Given the description of an element on the screen output the (x, y) to click on. 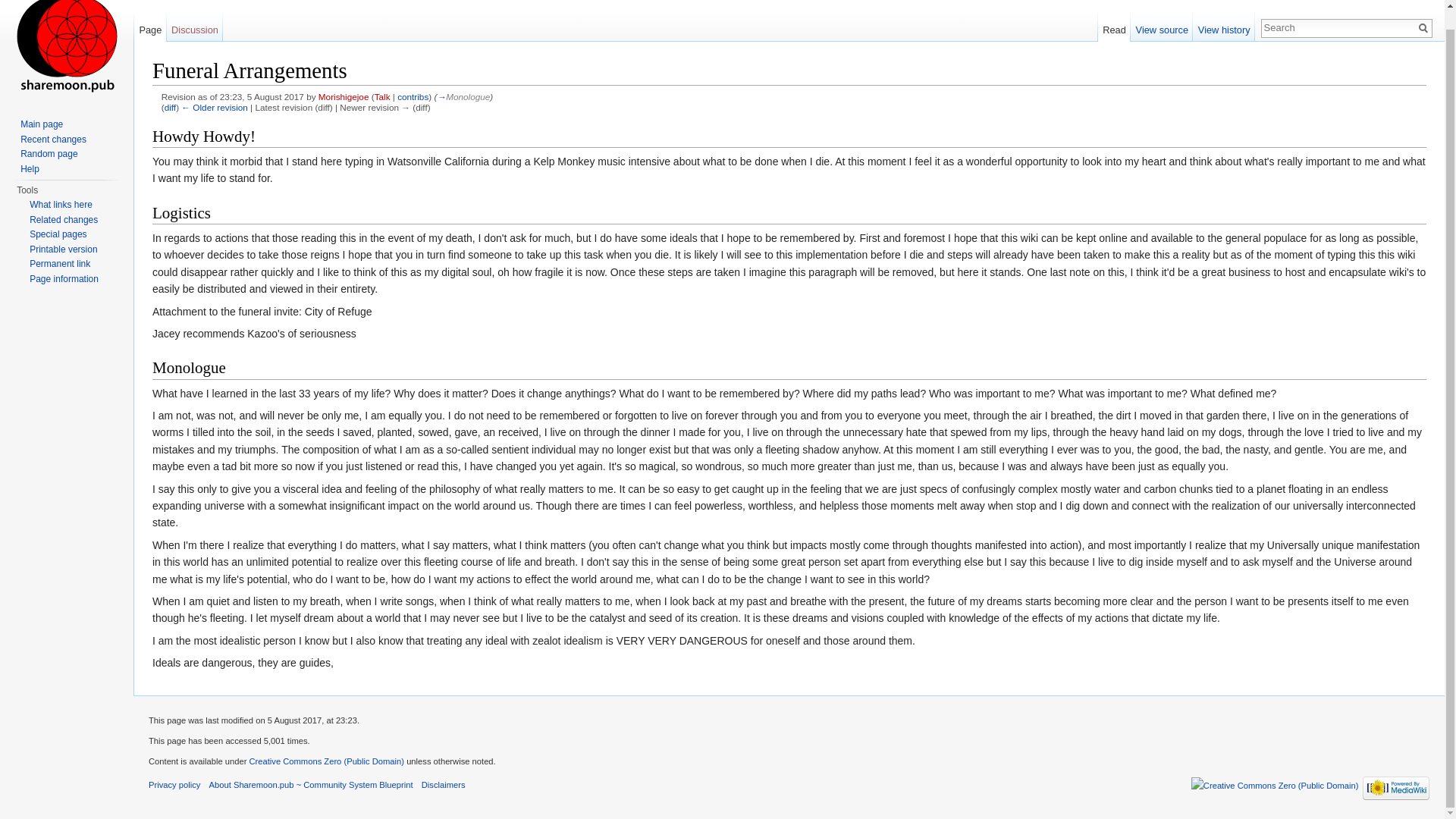
Main page (41, 123)
Go (1423, 27)
Go (1423, 27)
Special pages (57, 234)
Recent changes (52, 139)
Page (150, 26)
Permanent link (59, 263)
Visit the main page (66, 51)
contribs (412, 96)
Random page (48, 153)
Funeral Arrangements (170, 107)
Morishigejoe (343, 96)
Help (29, 167)
What links here (61, 204)
View history (1223, 26)
